Given the description of an element on the screen output the (x, y) to click on. 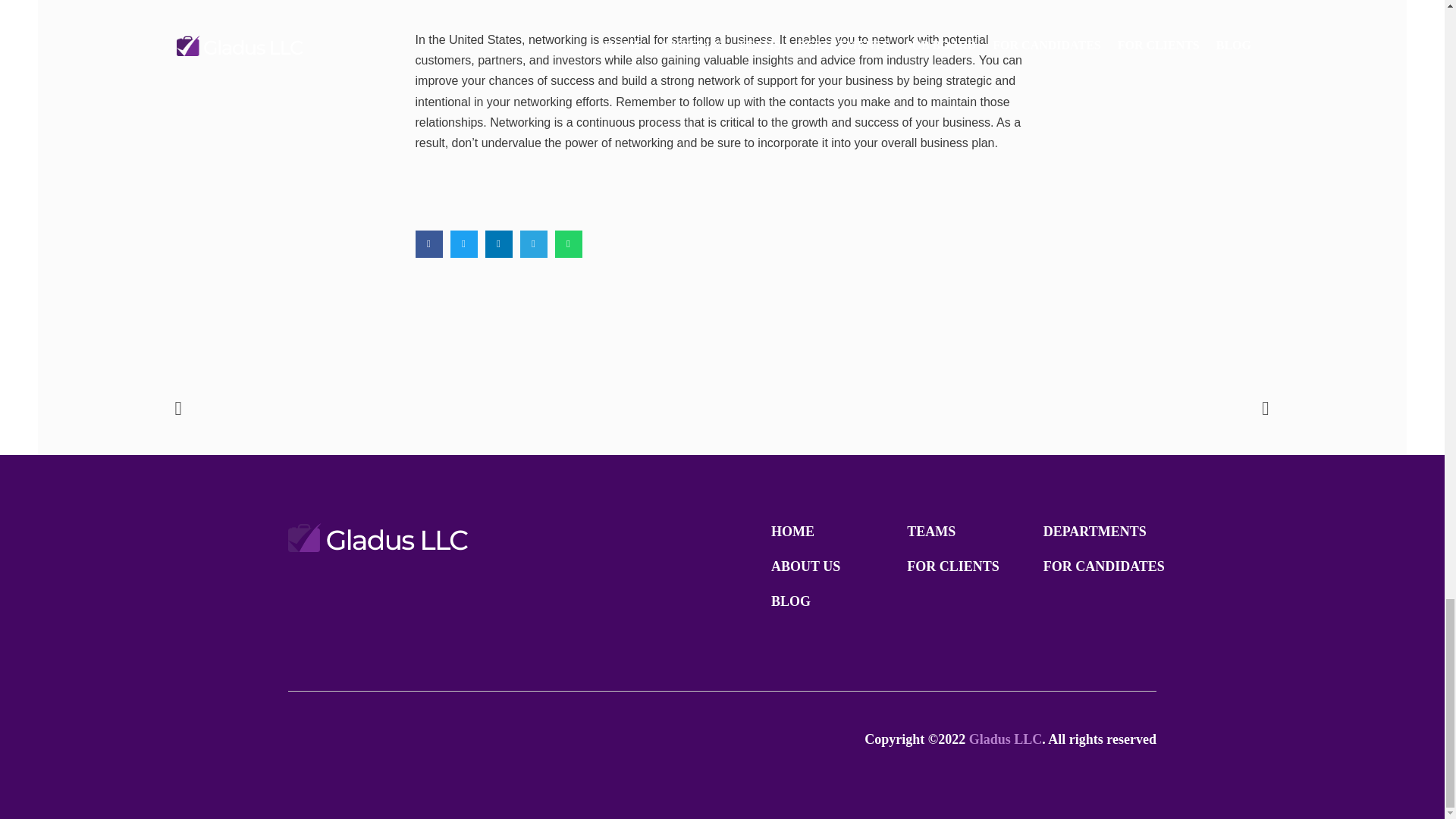
HOME (792, 531)
BLOG (790, 601)
FOR CLIENTS (952, 566)
ABOUT US (805, 566)
TEAMS (931, 531)
DEPARTMENTS (1095, 531)
FOR CANDIDATES (1103, 566)
Gladus LLC (1005, 739)
